Given the description of an element on the screen output the (x, y) to click on. 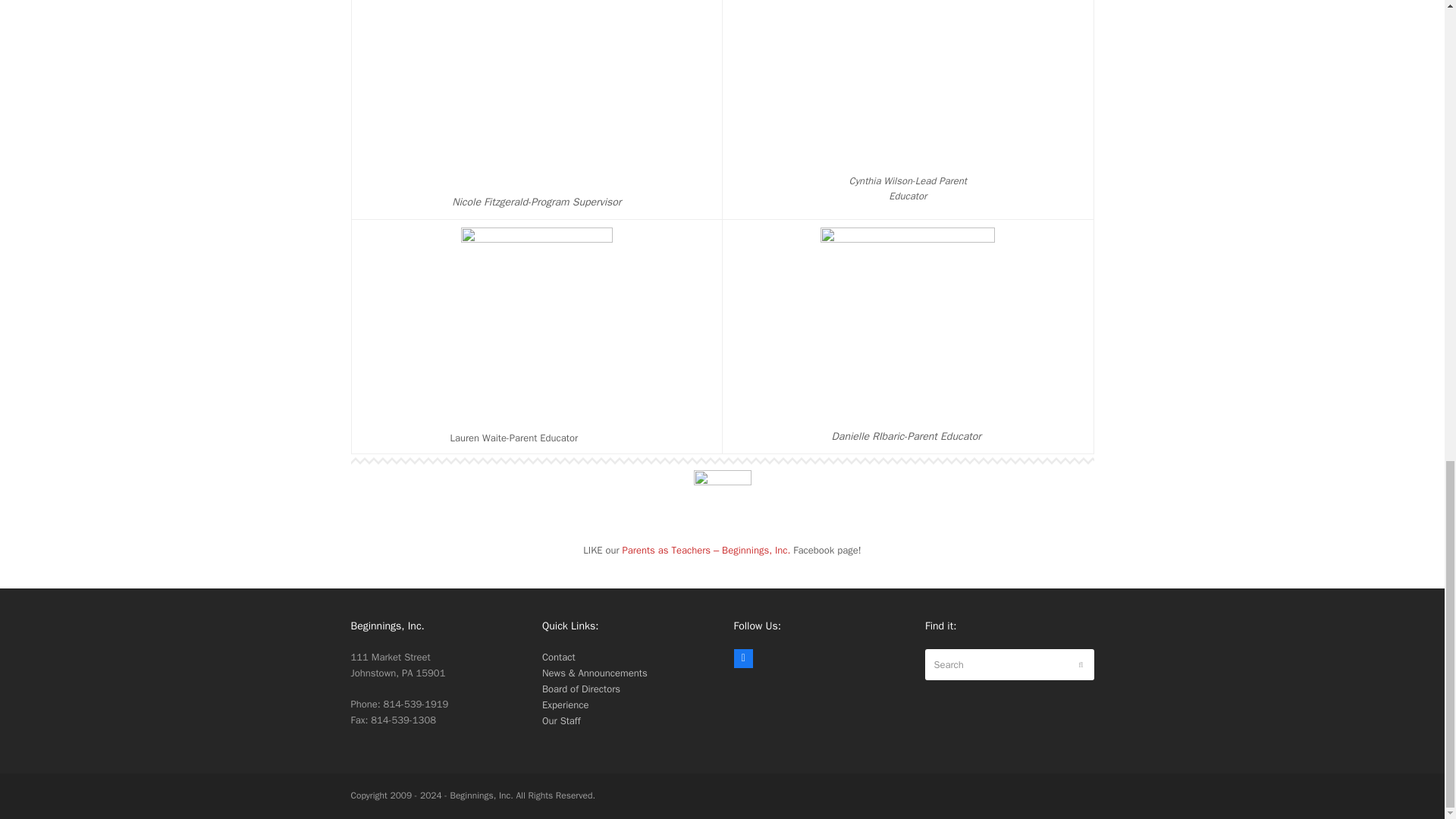
Facebook (743, 659)
